Given the description of an element on the screen output the (x, y) to click on. 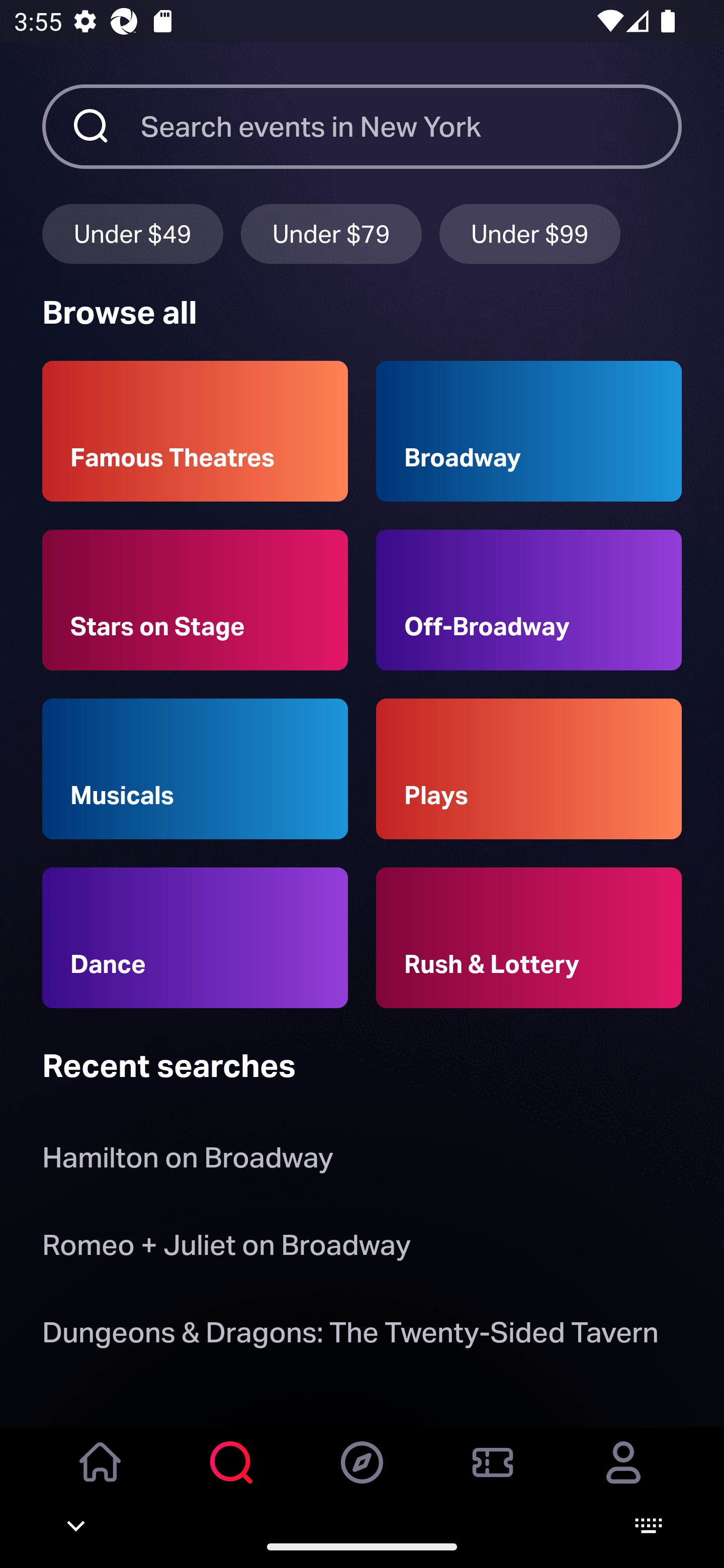
Search events in New York (411, 126)
Under $49 (131, 233)
Under $79 (331, 233)
Under $99 (529, 233)
Famous Theatres (194, 430)
Broadway (528, 430)
Stars on Stage (194, 600)
Off-Broadway (528, 600)
Musicals (194, 768)
Plays (528, 768)
Dance (194, 937)
Rush & Lottery (528, 937)
Hamilton on Broadway (187, 1161)
Romeo + Juliet on Broadway (225, 1248)
Dungeons & Dragons: The Twenty-Sided Tavern (349, 1335)
Home (100, 1475)
Discover (361, 1475)
Orders (492, 1475)
Account (623, 1475)
